Given the description of an element on the screen output the (x, y) to click on. 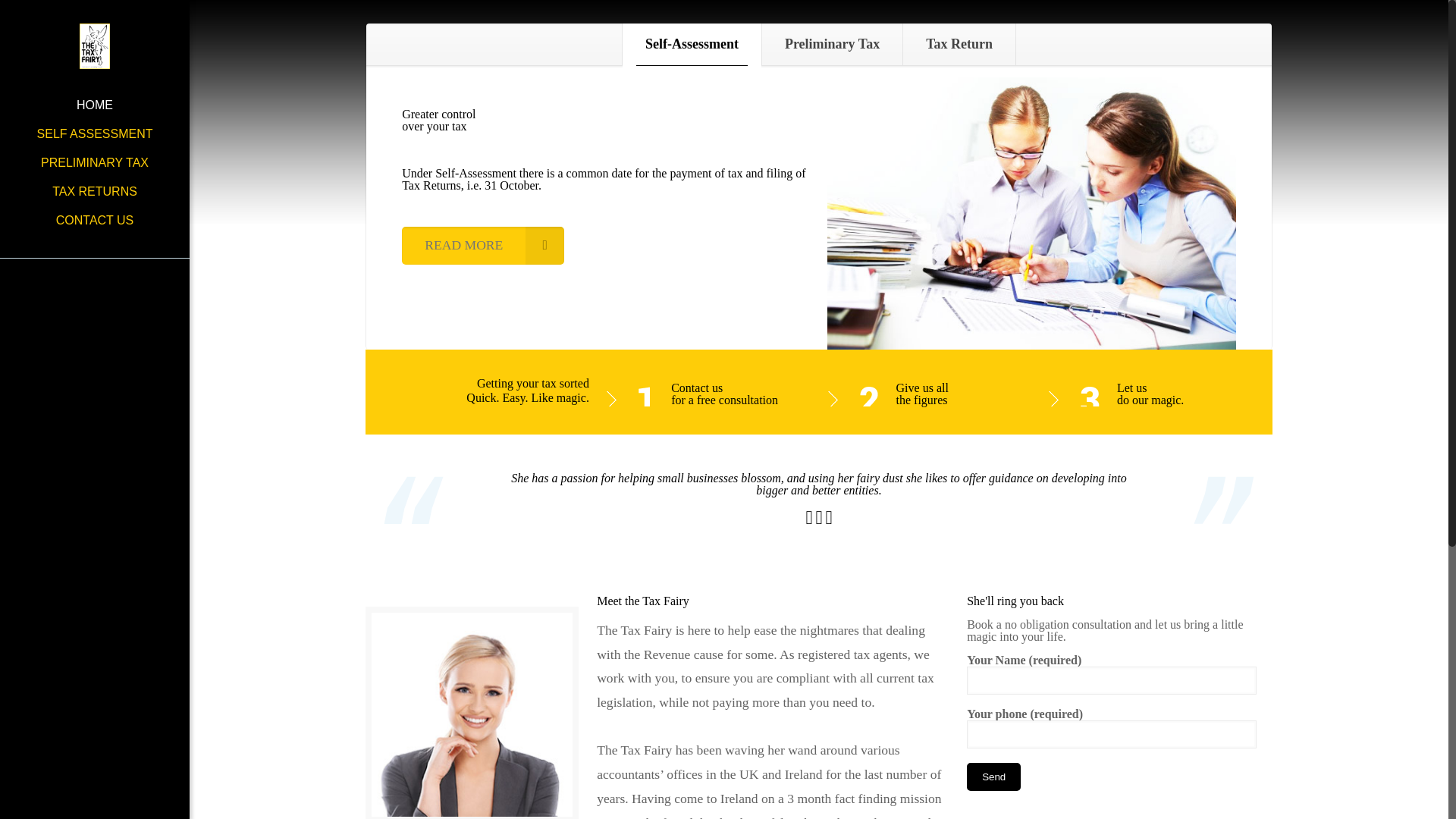
Send (993, 776)
SELF ASSESSMENT (94, 133)
READ MORE (482, 244)
CONTACT US (94, 220)
Preliminary Tax (831, 44)
HOME (94, 104)
The Tax Fairy (94, 45)
Self-Assessment (692, 44)
Tax Return (958, 44)
TAX RETURNS (94, 191)
